Given the description of an element on the screen output the (x, y) to click on. 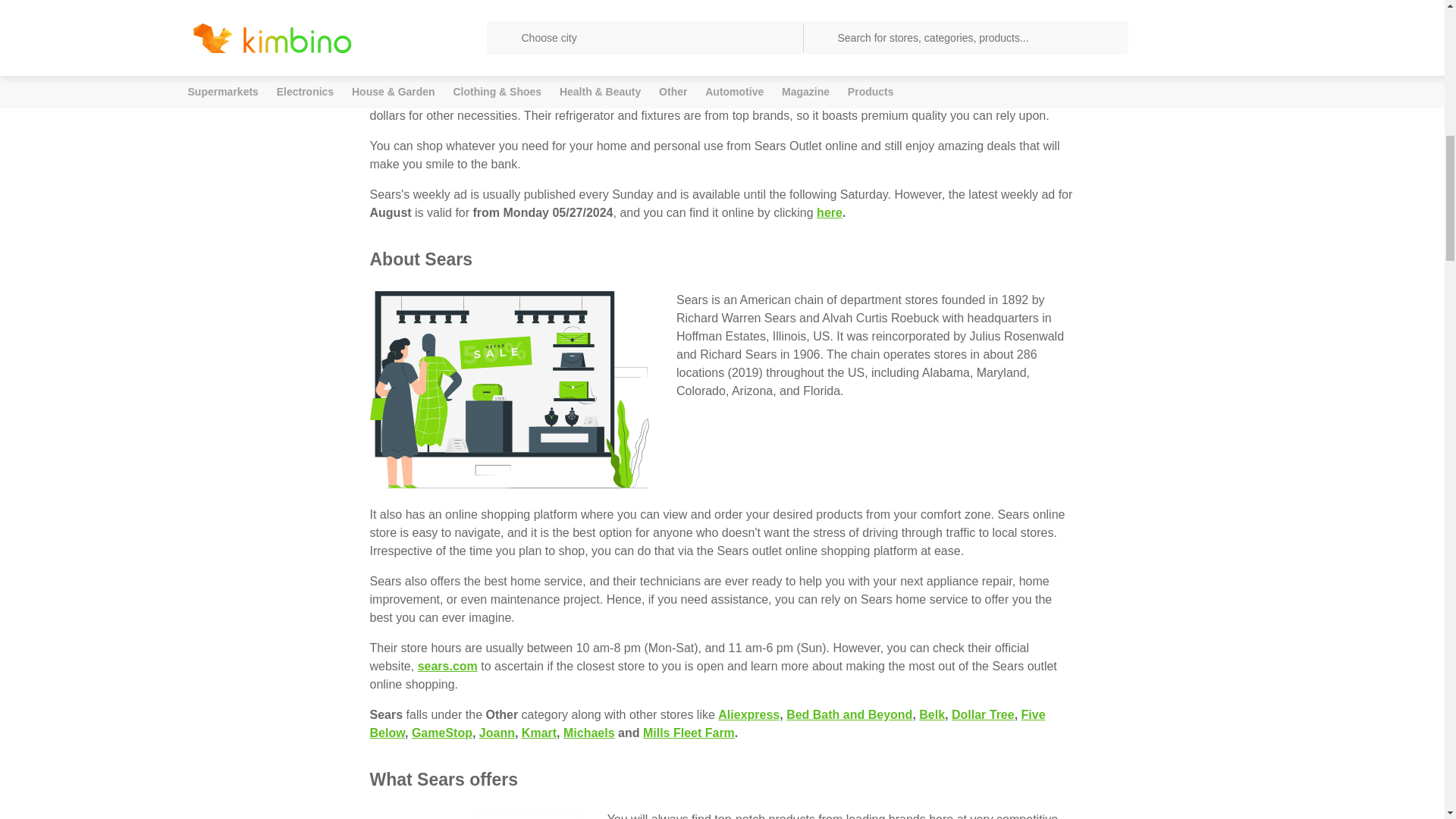
Belk (931, 714)
Bed Bath and Beyond (849, 714)
Mills Fleet Farm (689, 732)
Dollar Tree (983, 714)
Aliexpress (747, 714)
Five Below (707, 723)
Joann (497, 732)
Kmart (538, 732)
here (829, 212)
sears.com (447, 666)
